Given the description of an element on the screen output the (x, y) to click on. 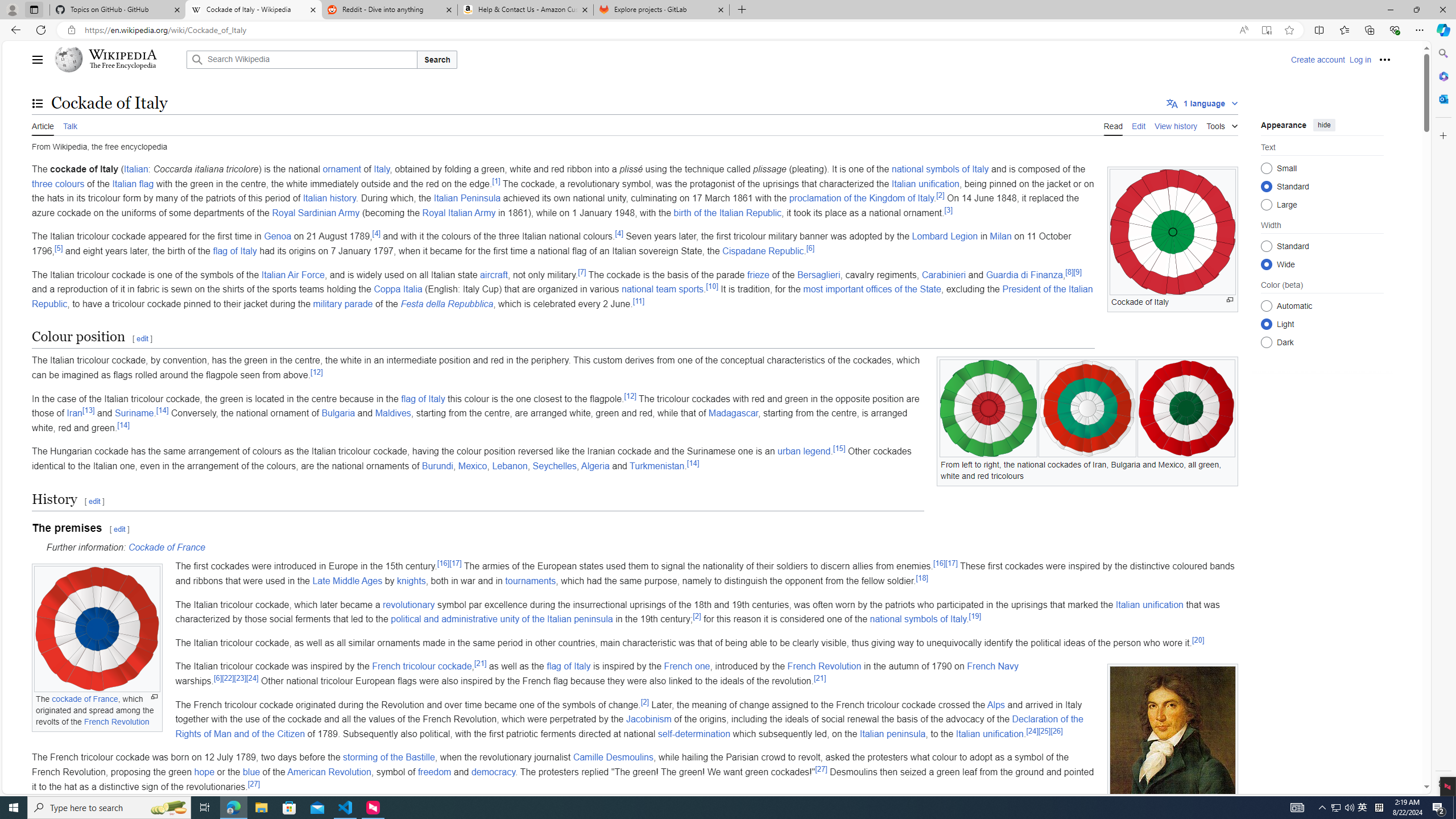
Jacobinism (648, 719)
[9] (1077, 271)
Cispadane Republic (762, 250)
Personal tools (1384, 59)
Enter Immersive Reader (F9) (1266, 29)
Toggle the table of contents (37, 103)
Article (42, 124)
Article (42, 124)
The Free Encyclopedia (121, 65)
[24] (1032, 730)
Lebanon (509, 466)
Log in (1360, 58)
frieze (758, 274)
Restore (1416, 9)
Class: mw-list-item mw-list-item-js (1321, 323)
